Given the description of an element on the screen output the (x, y) to click on. 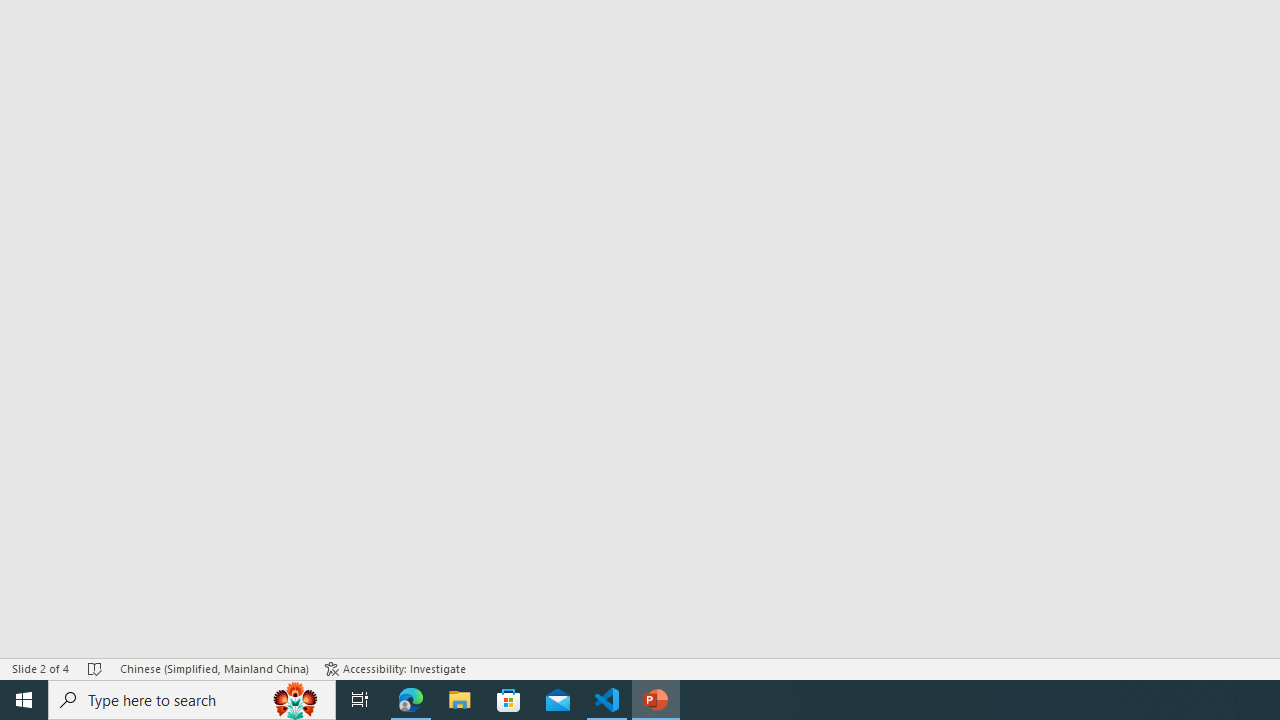
Spell Check No Errors (95, 668)
Accessibility Checker Accessibility: Investigate (395, 668)
